Given the description of an element on the screen output the (x, y) to click on. 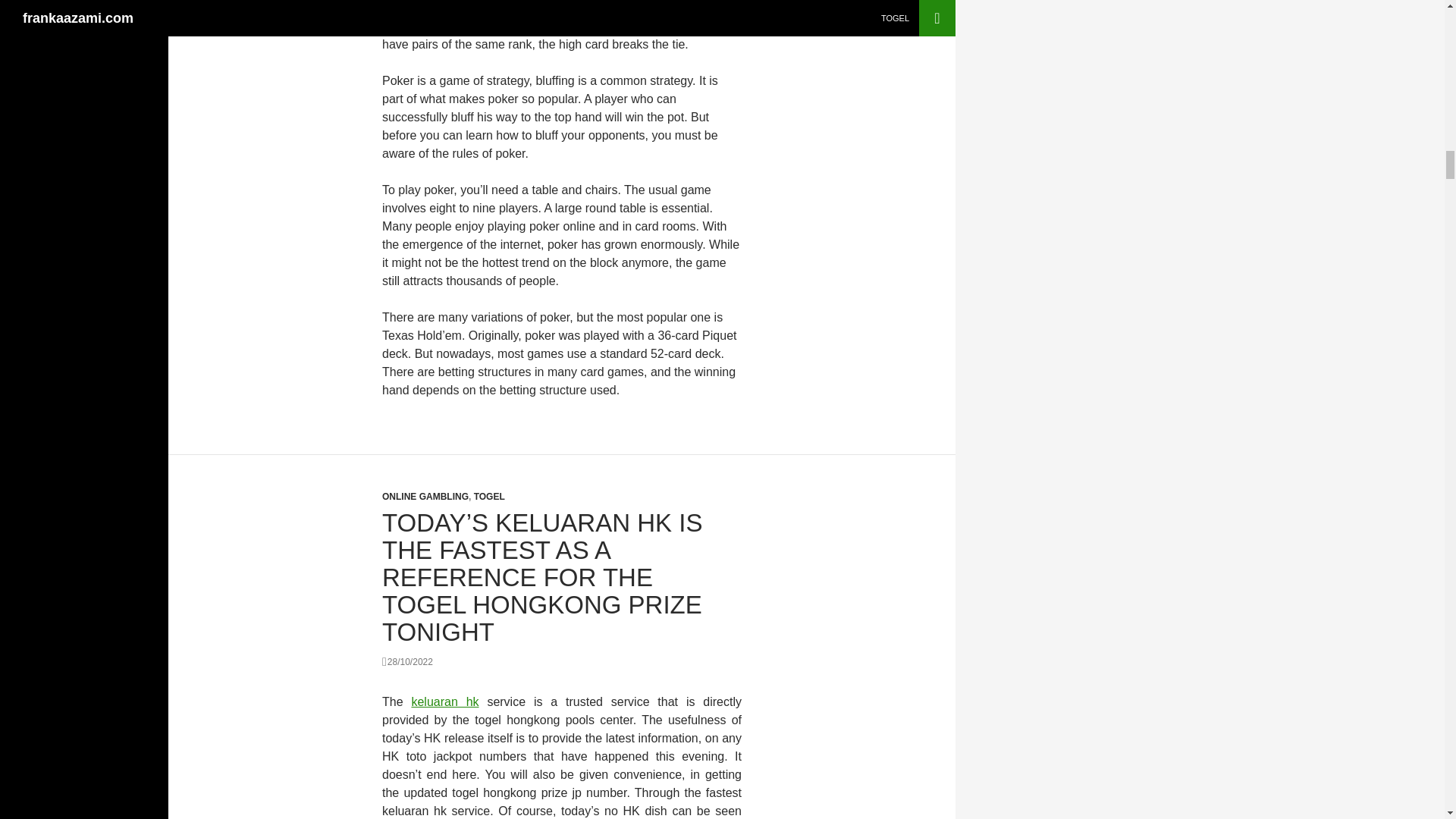
ONLINE GAMBLING (424, 496)
TOGEL (489, 496)
keluaran hk (444, 701)
